Given the description of an element on the screen output the (x, y) to click on. 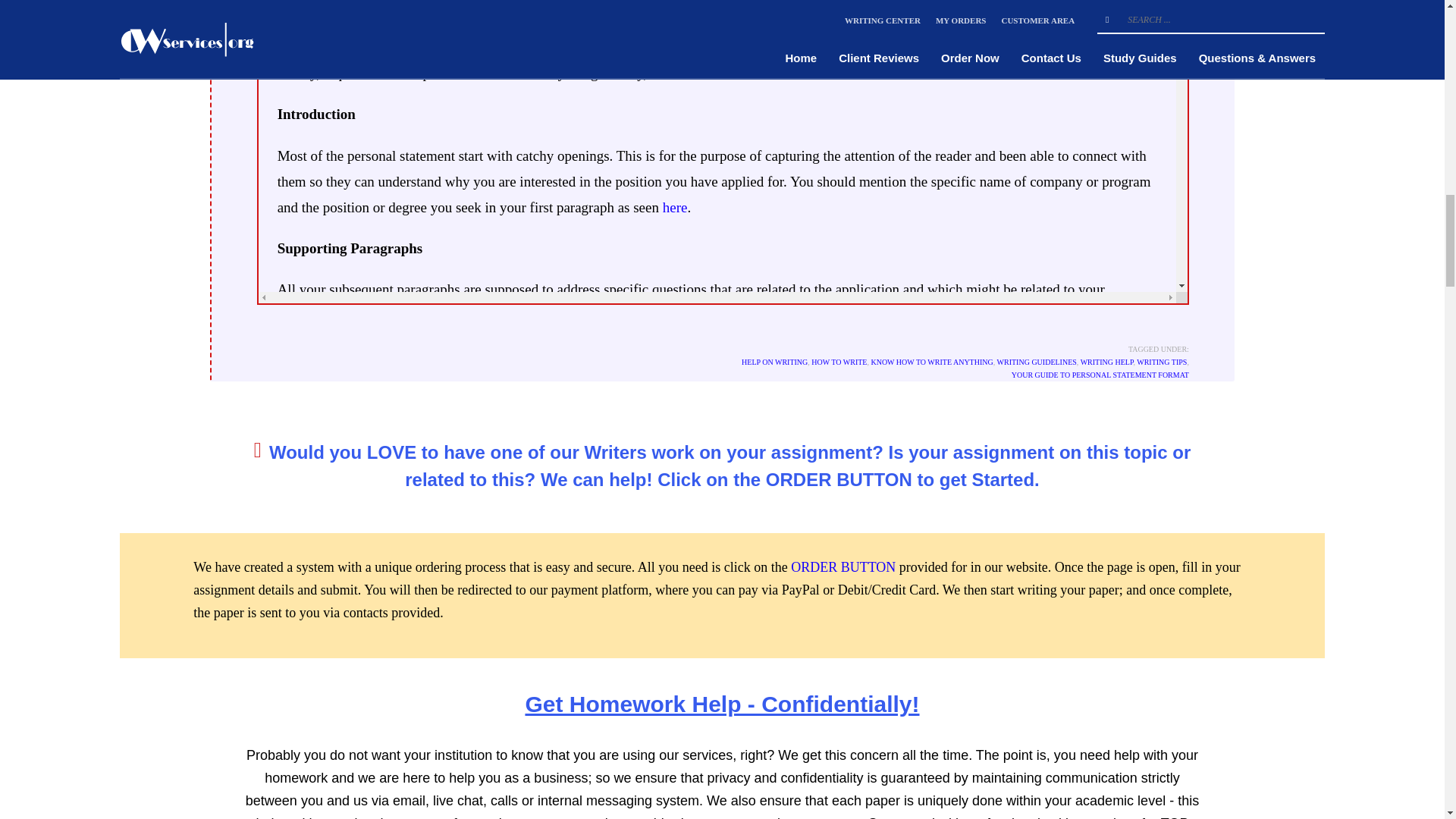
here (674, 207)
HELP ON WRITING (774, 361)
ORDER BUTTON (842, 566)
WRITING TIPS (1161, 361)
personal statement (481, 7)
YOUR GUIDE TO PERSONAL STATEMENT FORMAT (1100, 375)
HOW TO WRITE (838, 361)
WRITING HELP (1107, 361)
KNOW HOW TO WRITE ANYTHING (931, 361)
WRITING GUIDELINES (1037, 361)
